Given the description of an element on the screen output the (x, y) to click on. 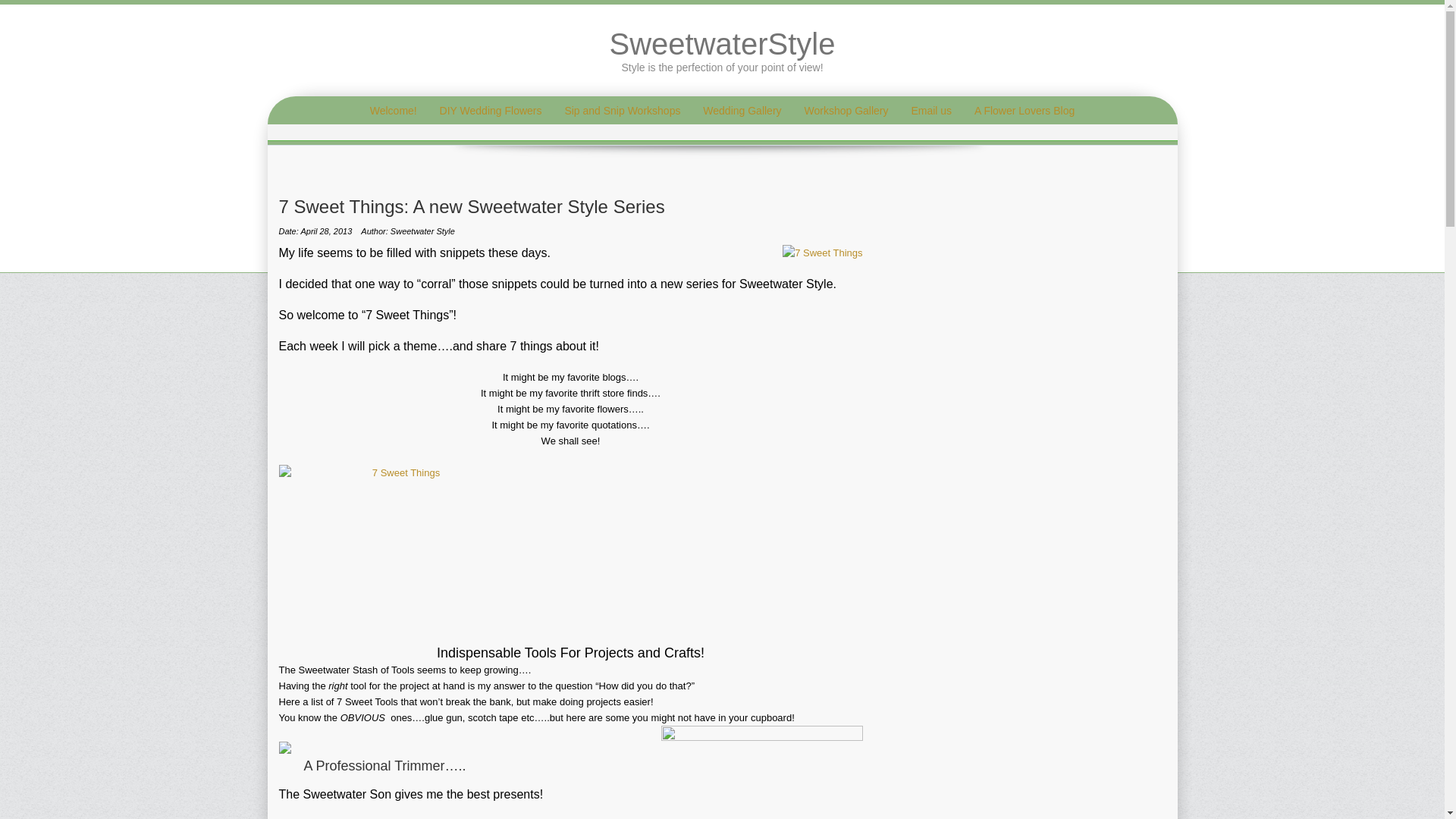
Email us (930, 110)
Welcome! (392, 110)
7 Sweet Things (400, 538)
Wedding Gallery (741, 110)
A Flower Lovers Blog (1023, 110)
7 Sweet Things (822, 252)
SweetwaterStyle (722, 43)
Sip and Snip Workshops (622, 110)
DIY Wedding Flowers (490, 110)
SweetwaterStyle (722, 43)
Workshop Gallery (845, 110)
